Given the description of an element on the screen output the (x, y) to click on. 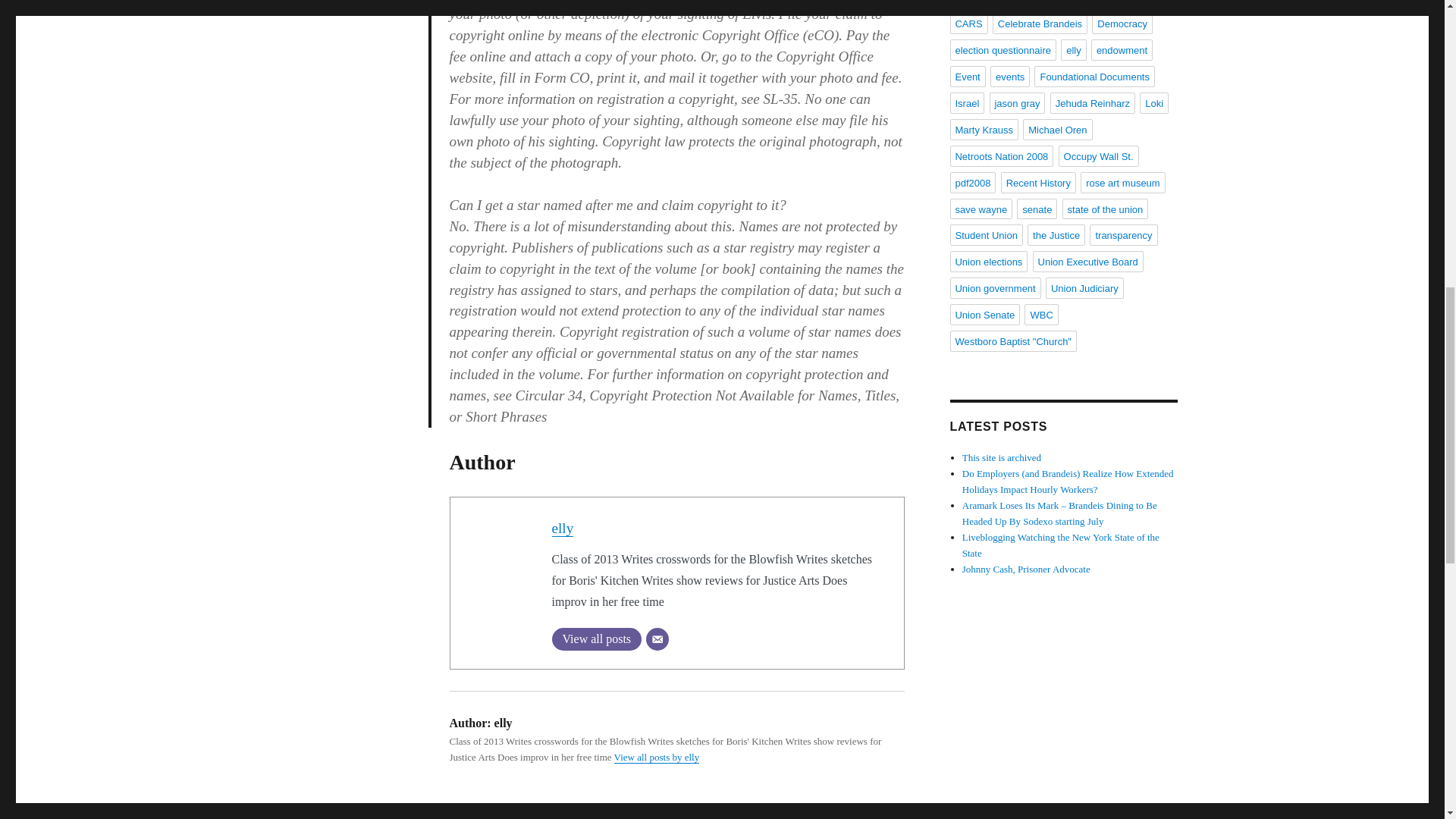
View all posts (596, 639)
elly (562, 528)
View all posts (596, 639)
elly (562, 528)
View all posts by elly (657, 756)
